Given the description of an element on the screen output the (x, y) to click on. 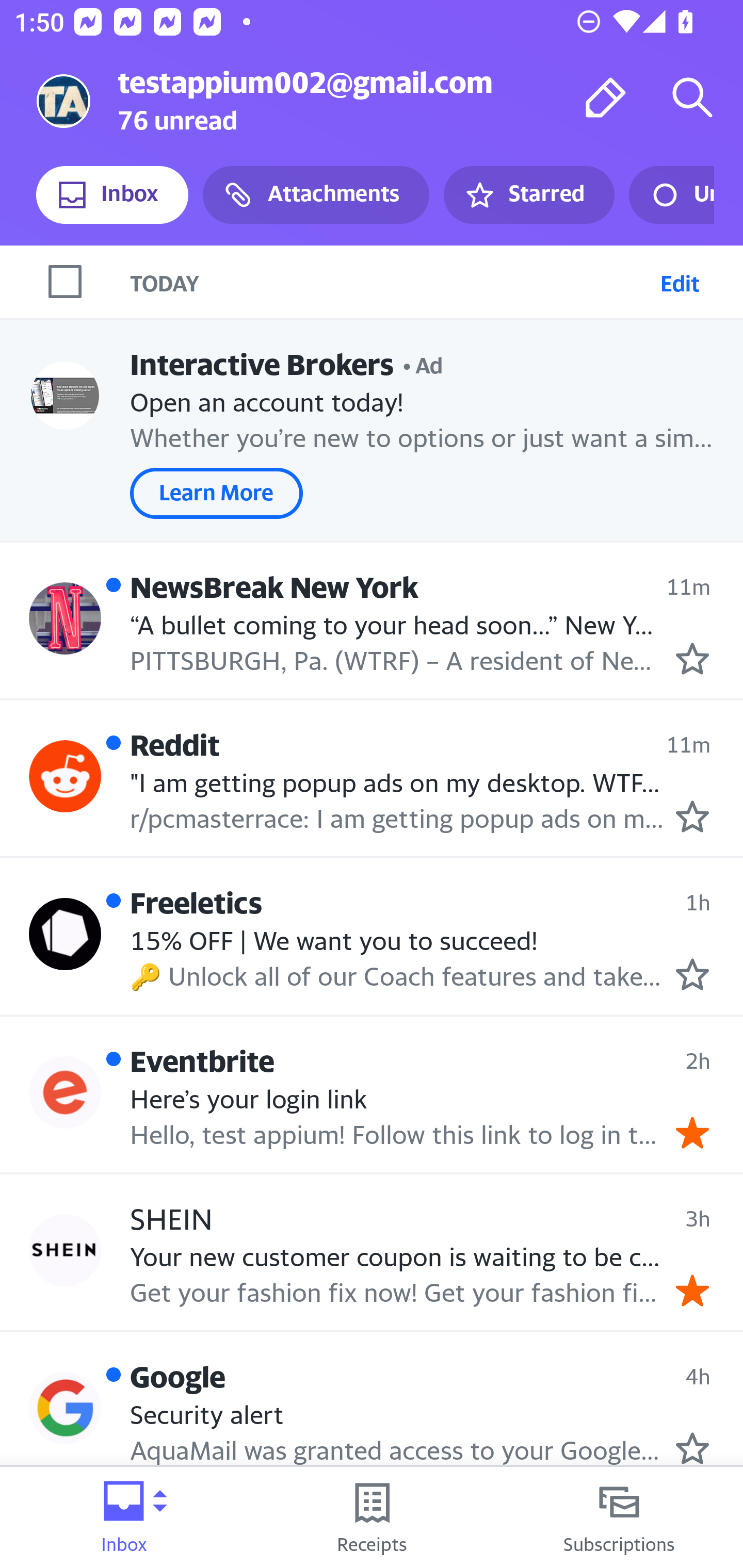
Compose (605, 97)
Search mail (692, 97)
Attachments (315, 195)
Starred (528, 195)
TODAY (391, 281)
Edit Select emails (679, 281)
Profile
NewsBreak New York (64, 617)
Mark as starred. (692, 659)
Profile
Reddit (64, 776)
Mark as starred. (692, 816)
Profile
Freeletics (64, 934)
Mark as starred. (692, 974)
Profile
Eventbrite (64, 1092)
Remove star. (692, 1132)
Profile
SHEIN (64, 1249)
Remove star. (692, 1291)
Profile
Google (64, 1408)
Mark as starred. (692, 1448)
Inbox Folder picker (123, 1517)
Receipts (371, 1517)
Subscriptions (619, 1517)
